Given the description of an element on the screen output the (x, y) to click on. 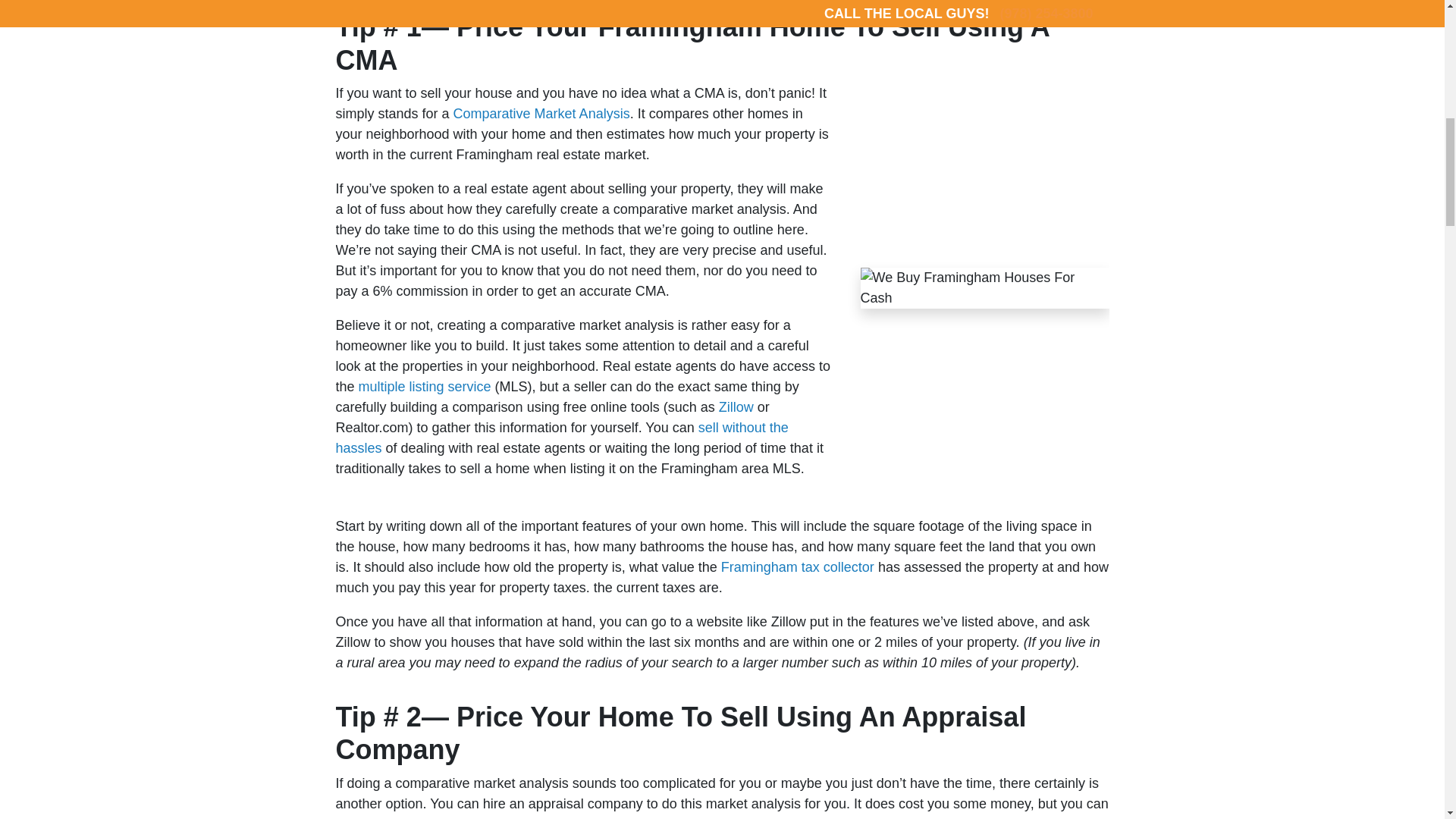
sell without the hassles (560, 437)
Comparative Market Analysis (541, 113)
Zillow (736, 406)
Framingham tax collector (797, 566)
multiple listing service (425, 386)
